Given the description of an element on the screen output the (x, y) to click on. 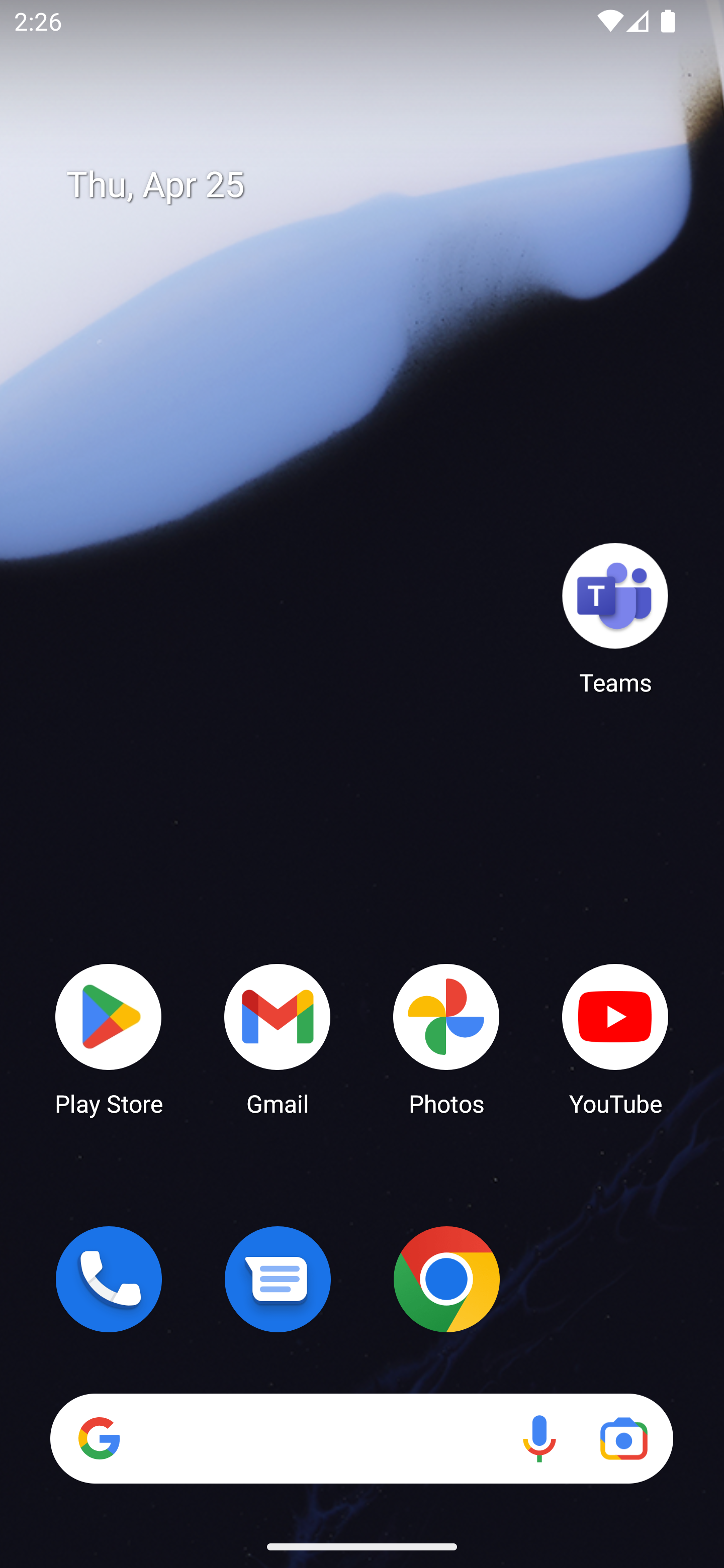
Thu, Apr 25 (375, 184)
Teams (615, 617)
Play Store (108, 1038)
Gmail (277, 1038)
Photos (445, 1038)
YouTube (615, 1038)
Phone (108, 1279)
Messages (277, 1279)
Chrome (446, 1279)
Search Voice search Google Lens (361, 1438)
Voice search (539, 1438)
Google Lens (623, 1438)
